Given the description of an element on the screen output the (x, y) to click on. 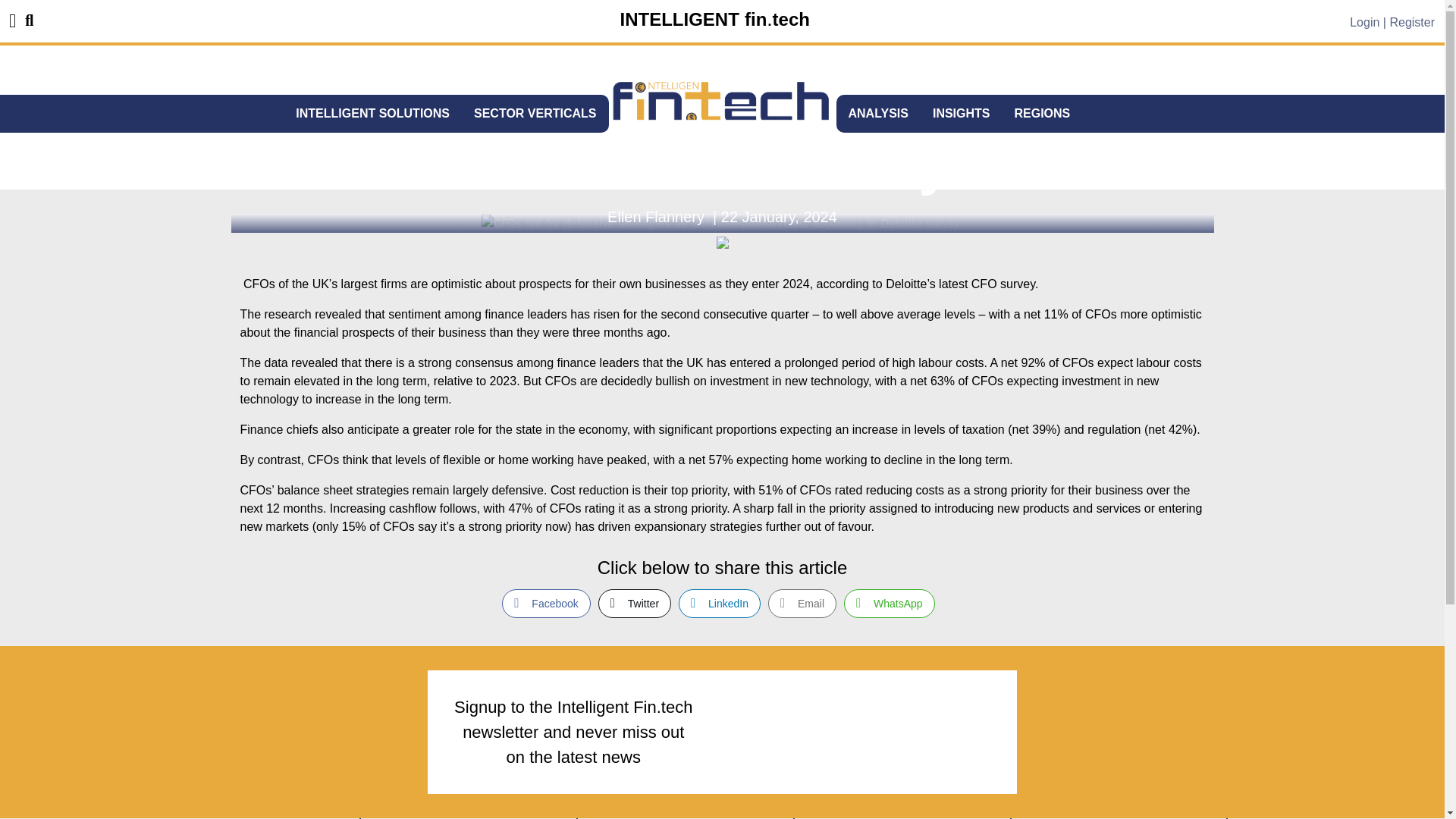
Login (1363, 21)
Register (1411, 21)
INTELLIGENT fin.tech (714, 19)
